Given the description of an element on the screen output the (x, y) to click on. 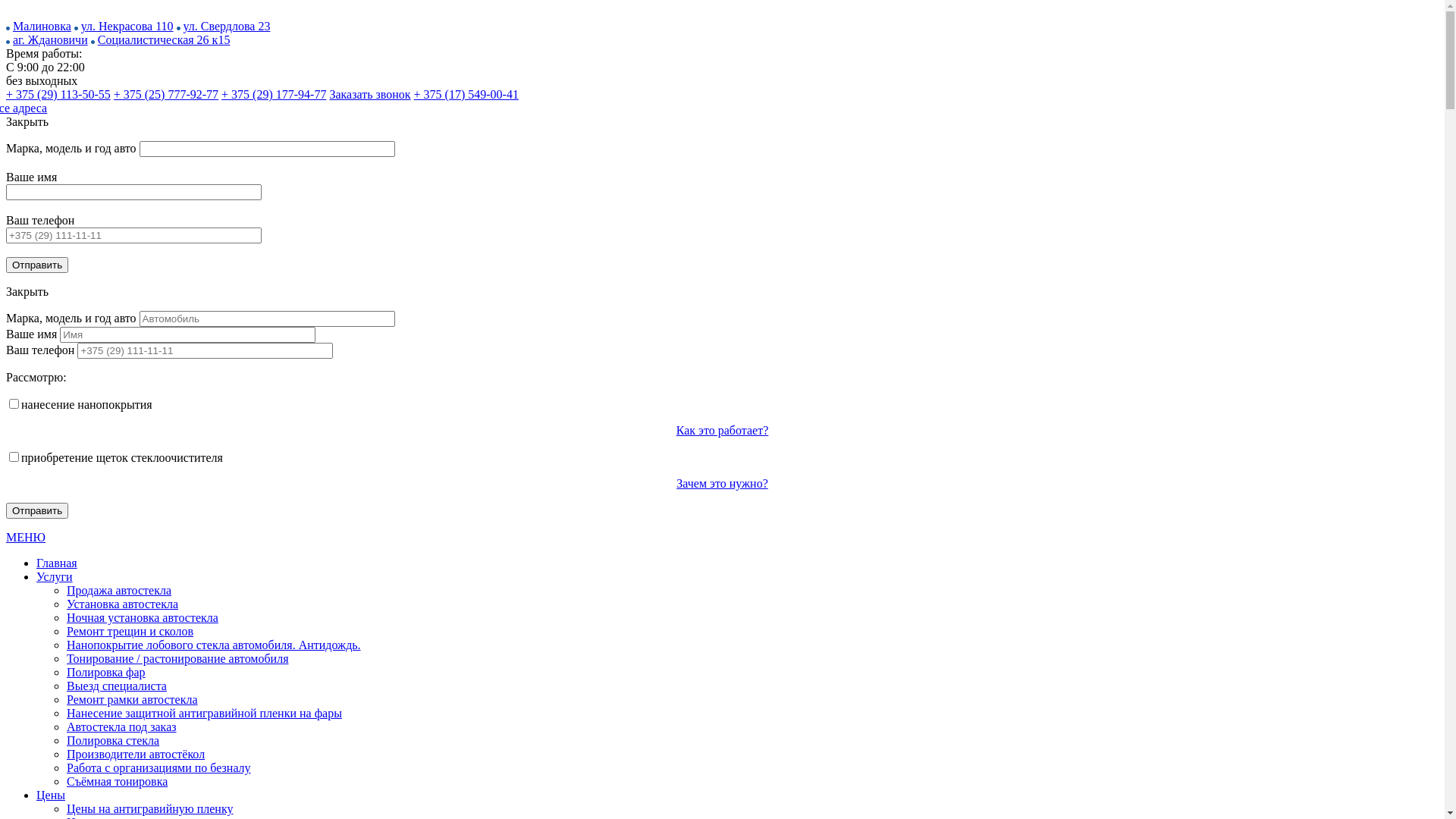
+ 375 (25) 777-92-77 Element type: text (165, 93)
+ 375 (29) 177-94-77 Element type: text (273, 93)
+ 375 (17) 549-00-41 Element type: text (466, 93)
+ 375 (29) 113-50-55 Element type: text (58, 93)
